Given the description of an element on the screen output the (x, y) to click on. 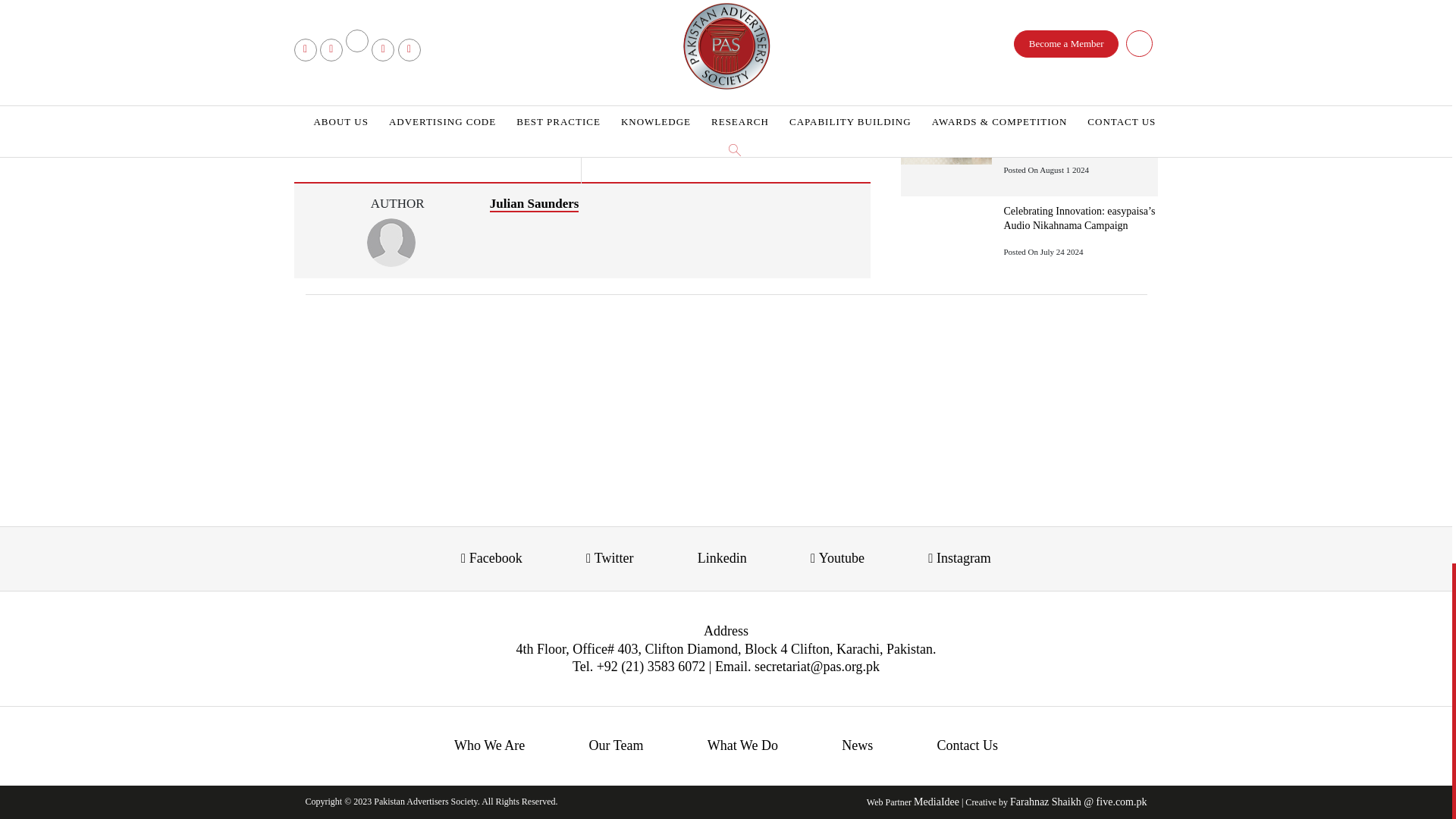
Twitter (418, 7)
More (646, 7)
Facebook (361, 7)
Instagram (588, 7)
Linkedin (475, 7)
Whatsapp (532, 7)
